Given the description of an element on the screen output the (x, y) to click on. 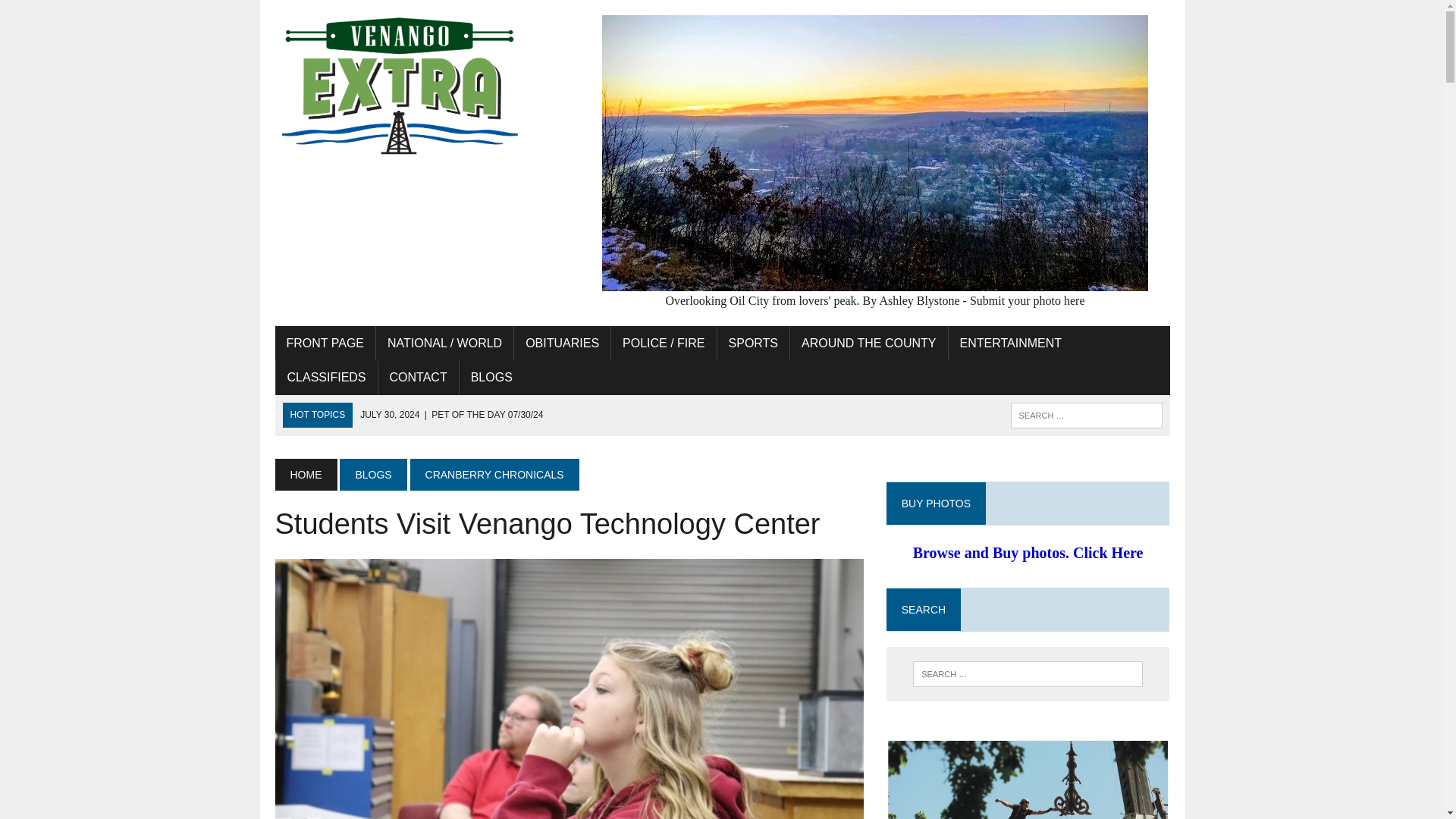
BLOGS (492, 377)
Search (75, 14)
CONTACT (418, 377)
HOME (305, 474)
ENTERTAINMENT (1011, 343)
SPORTS (753, 343)
BLOGS (372, 474)
FRONT PAGE (325, 343)
CLASSIFIEDS (326, 377)
Venango Extra.com (416, 86)
OBITUARIES (561, 343)
AROUND THE COUNTY (868, 343)
CRANBERRY CHRONICALS (494, 474)
